Given the description of an element on the screen output the (x, y) to click on. 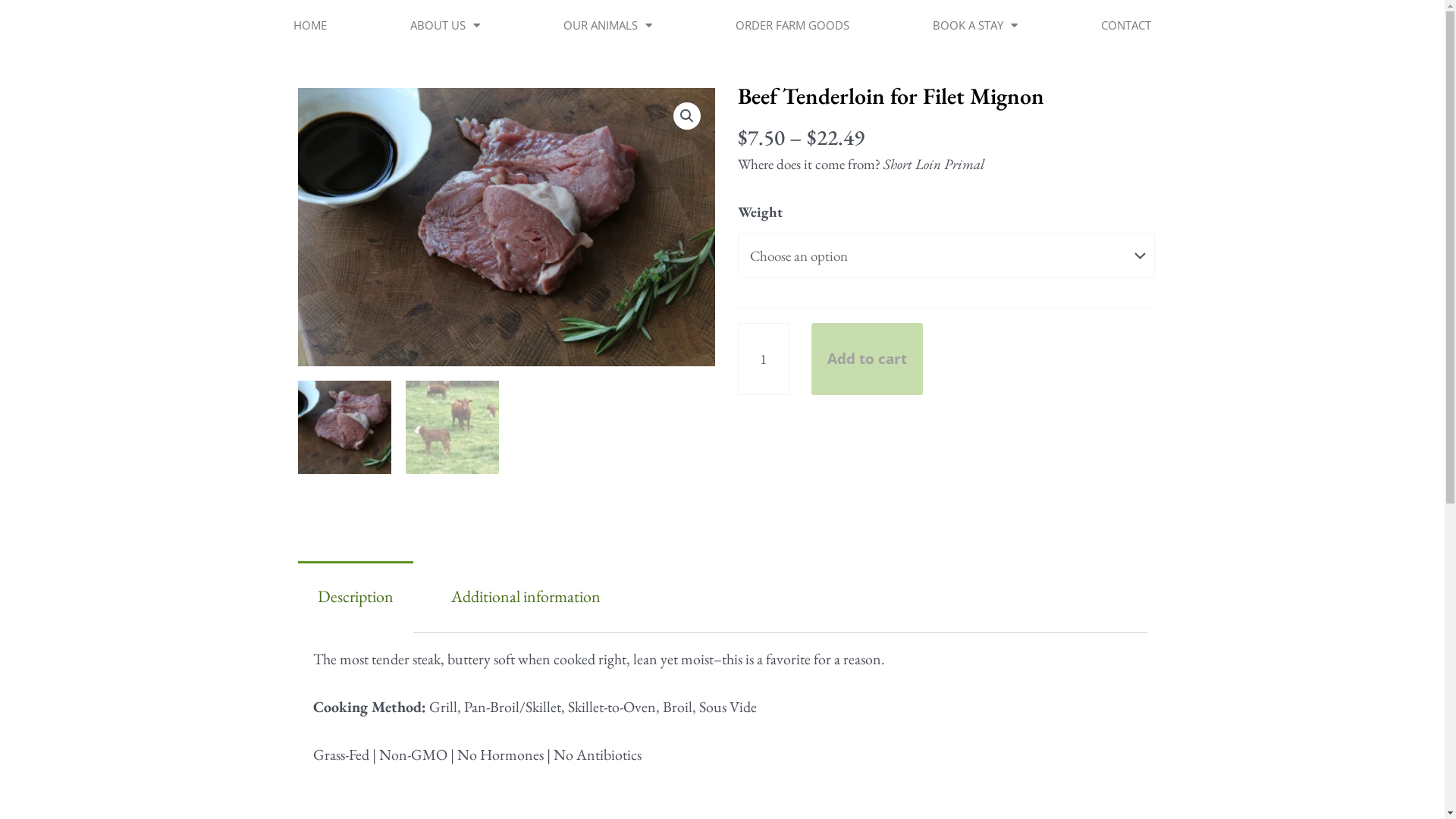
BOOK A STAY Element type: text (974, 24)
CONTACT Element type: text (1125, 24)
Beef Tenderloin for Filet Mignon.jg Element type: hover (505, 226)
ABOUT US Element type: text (445, 24)
Description Element type: text (355, 595)
OUR ANIMALS Element type: text (607, 24)
ORDER FARM GOODS Element type: text (792, 24)
Additional information Element type: text (525, 595)
Add to cart Element type: text (866, 359)
HOME Element type: text (310, 24)
